Given the description of an element on the screen output the (x, y) to click on. 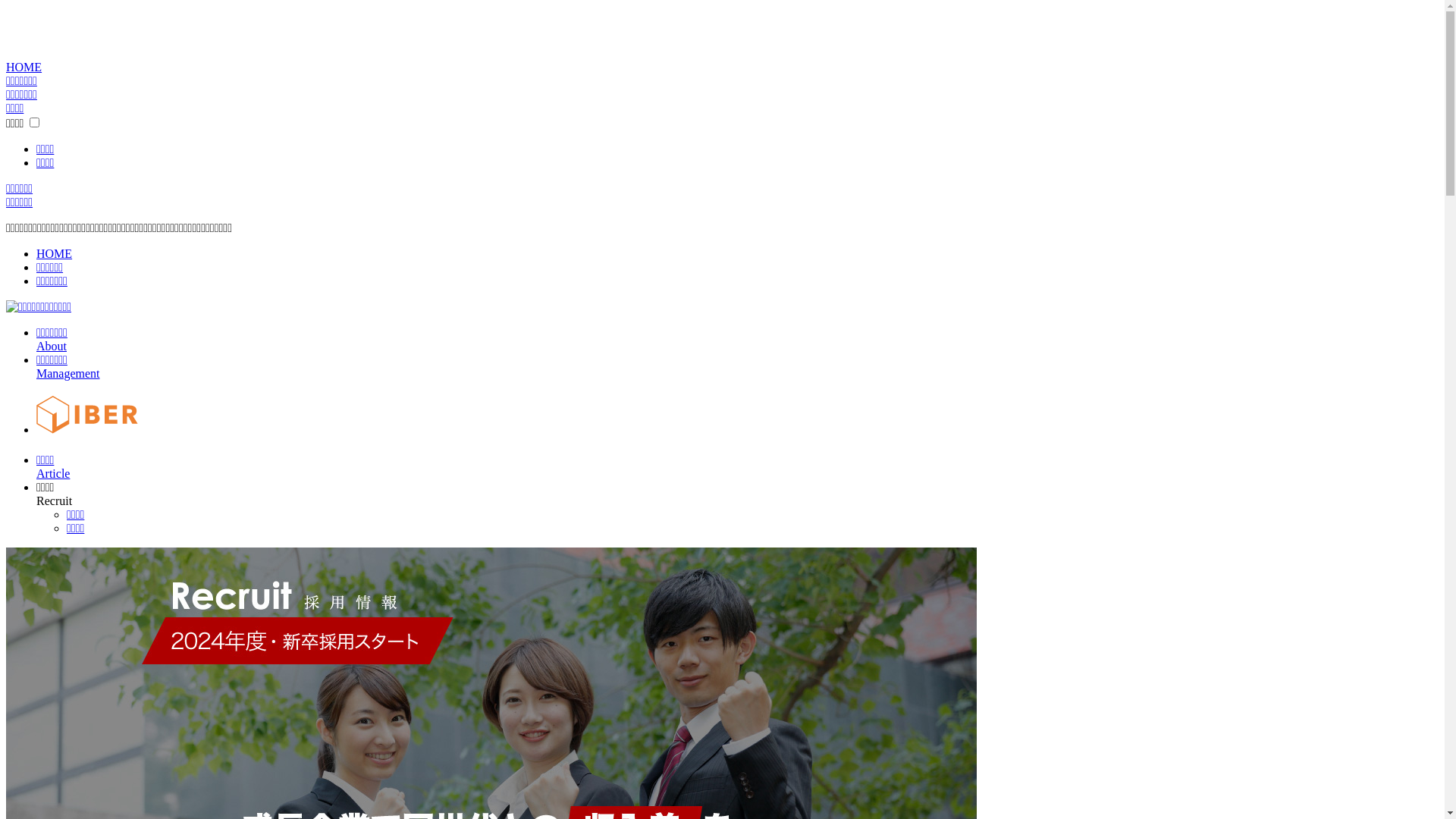
HOME Element type: text (23, 66)
HOME Element type: text (54, 253)
